Given the description of an element on the screen output the (x, y) to click on. 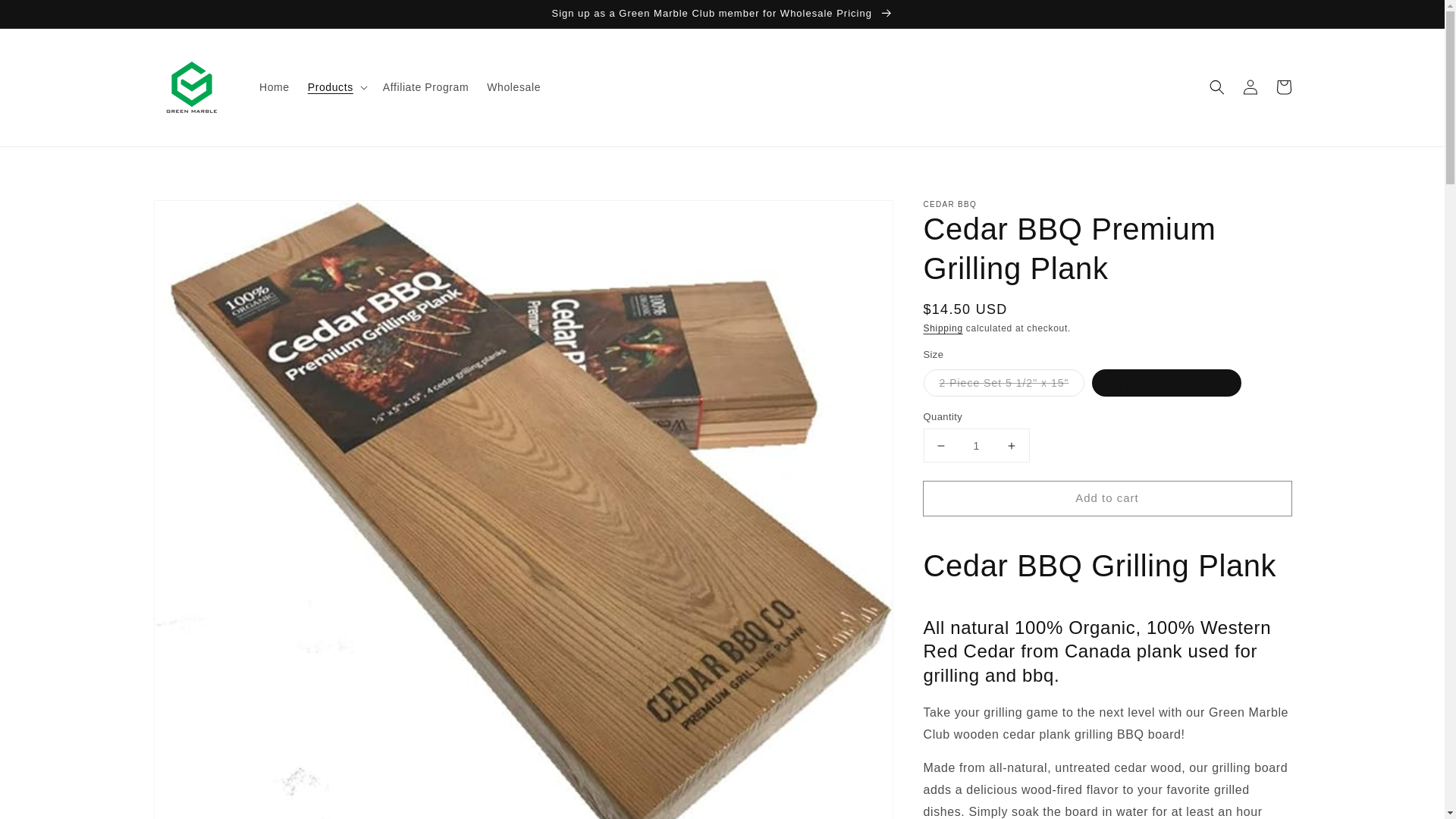
Wholesale (513, 87)
Skip to content (45, 16)
Affiliate Program (425, 87)
Home (274, 87)
Cart (1283, 87)
Skip to product information (198, 216)
1 (976, 445)
Log in (1249, 87)
